Given the description of an element on the screen output the (x, y) to click on. 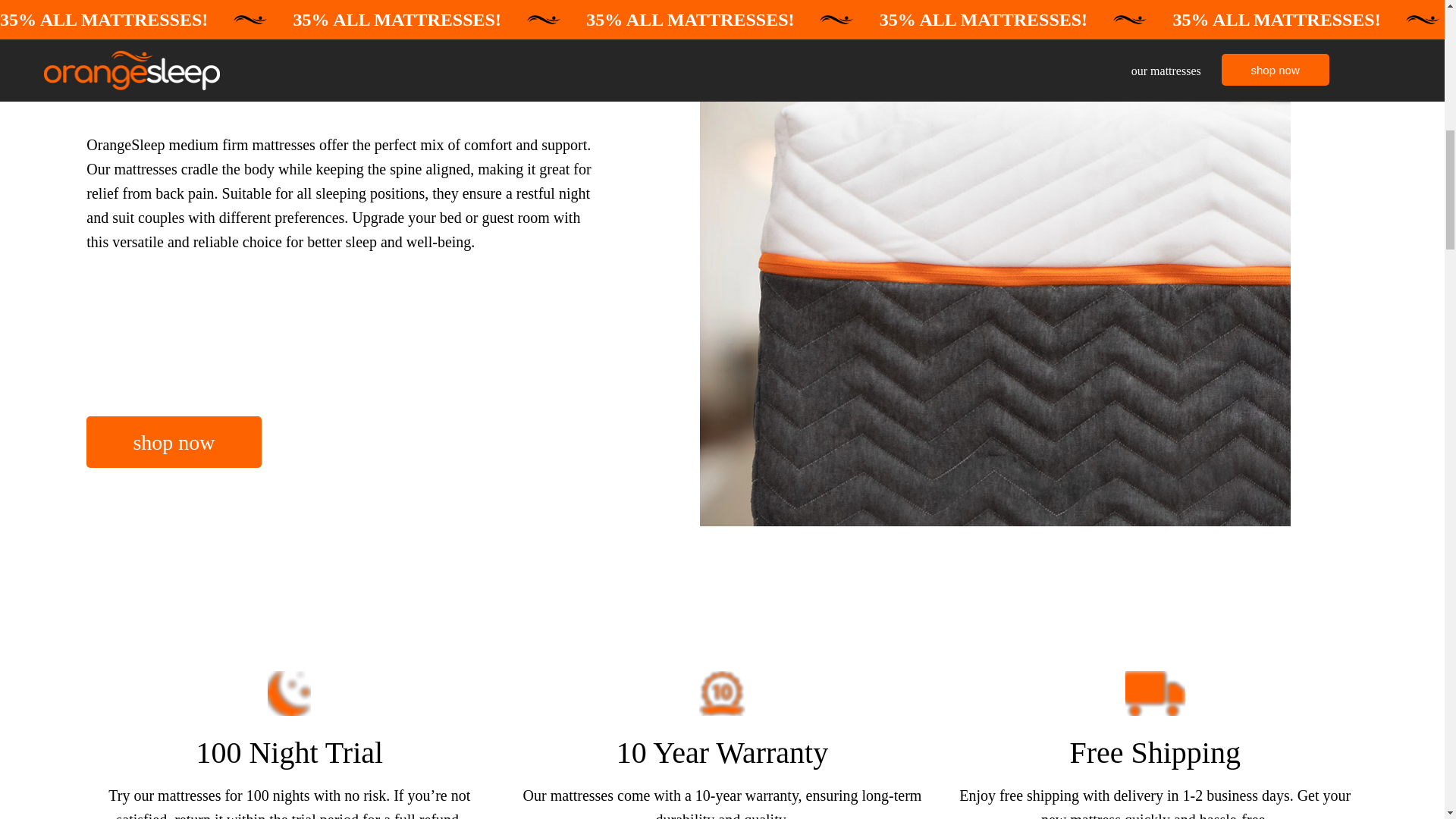
shop now (172, 441)
